Given the description of an element on the screen output the (x, y) to click on. 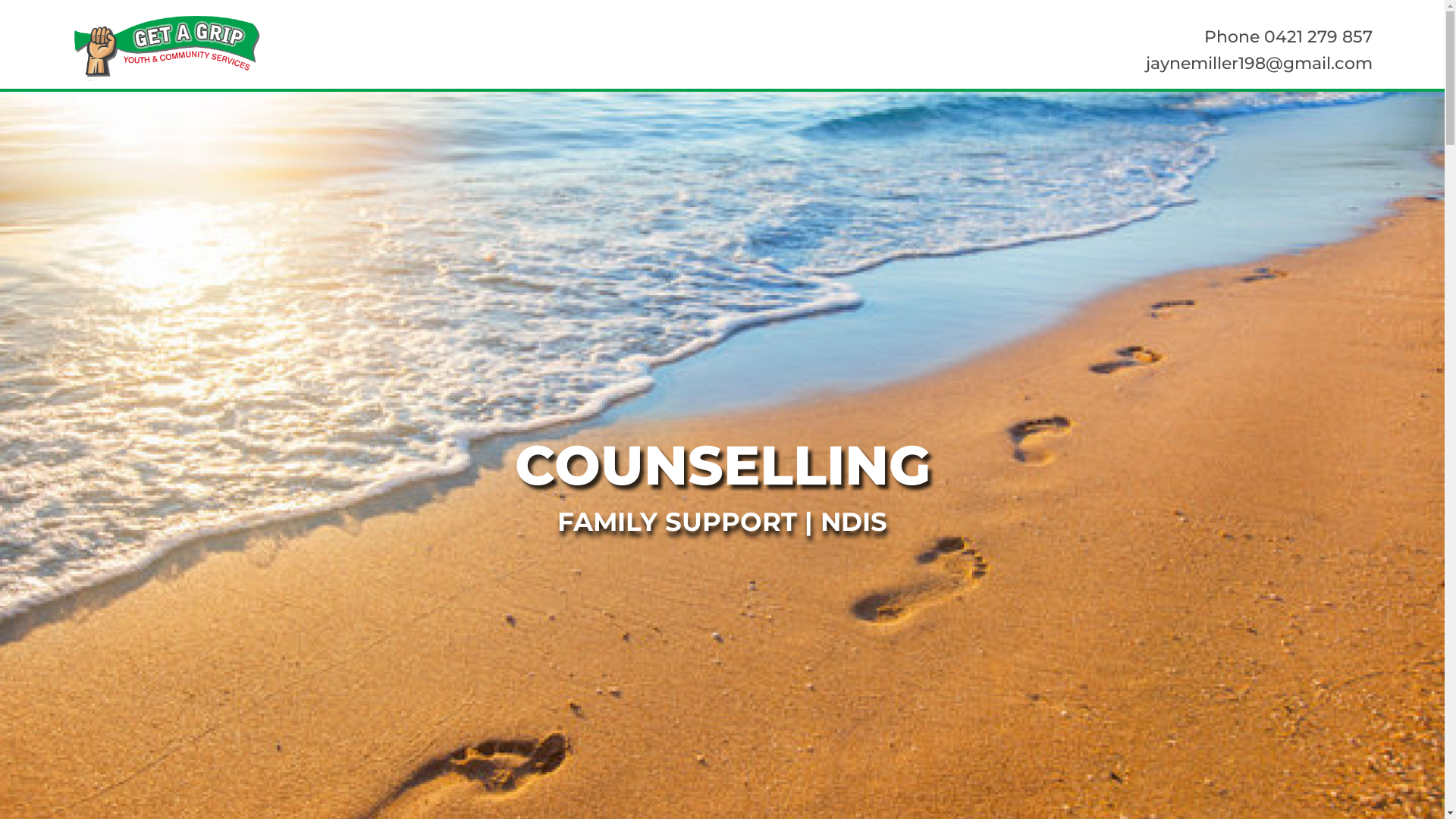
Logo Element type: hover (166, 46)
